Given the description of an element on the screen output the (x, y) to click on. 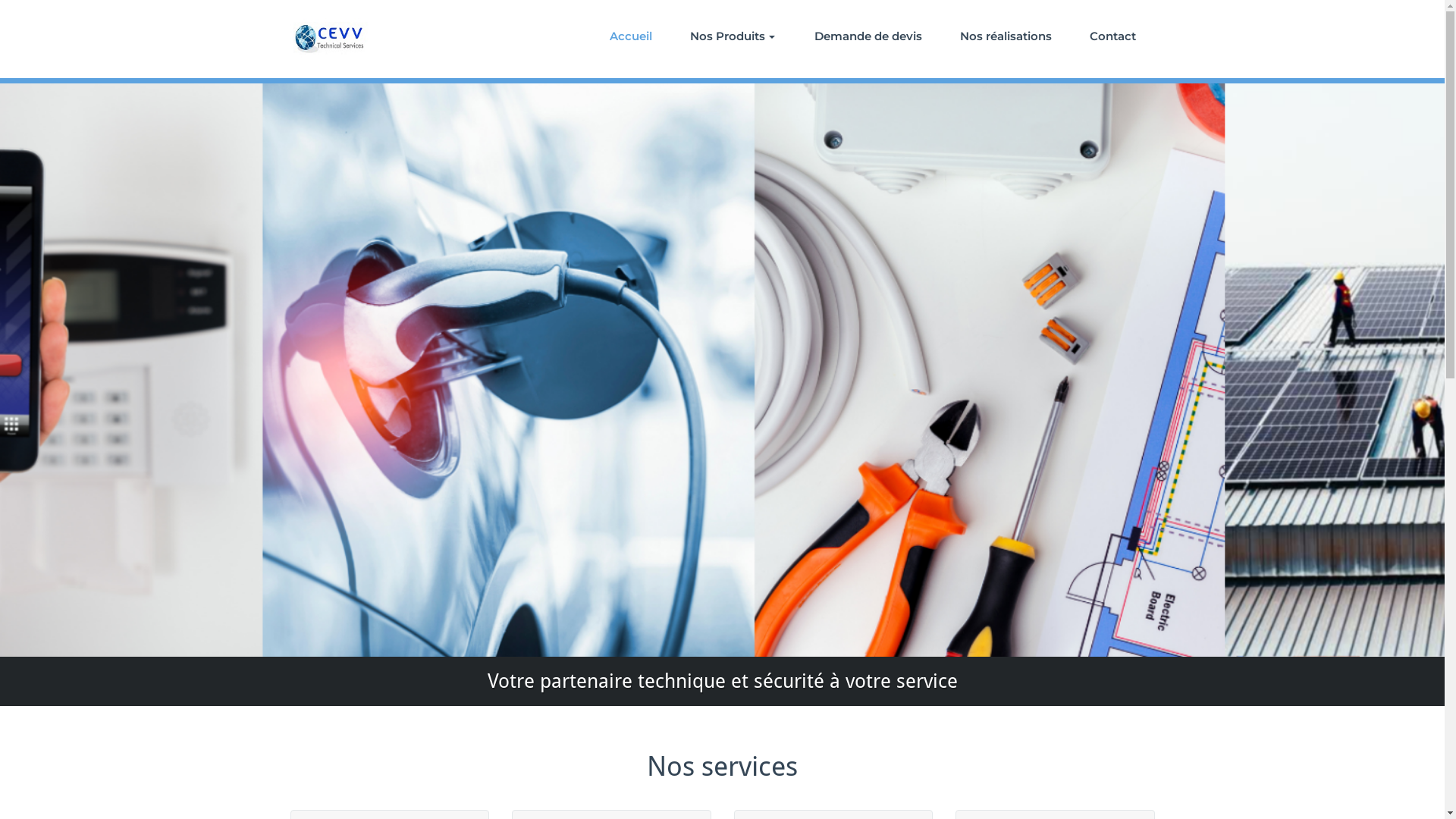
Skip to content Element type: text (0, 0)
Nos Produits Element type: text (731, 36)
Accueil Element type: text (629, 36)
Demande de devis Element type: text (867, 36)
Contact Element type: text (1112, 36)
